Given the description of an element on the screen output the (x, y) to click on. 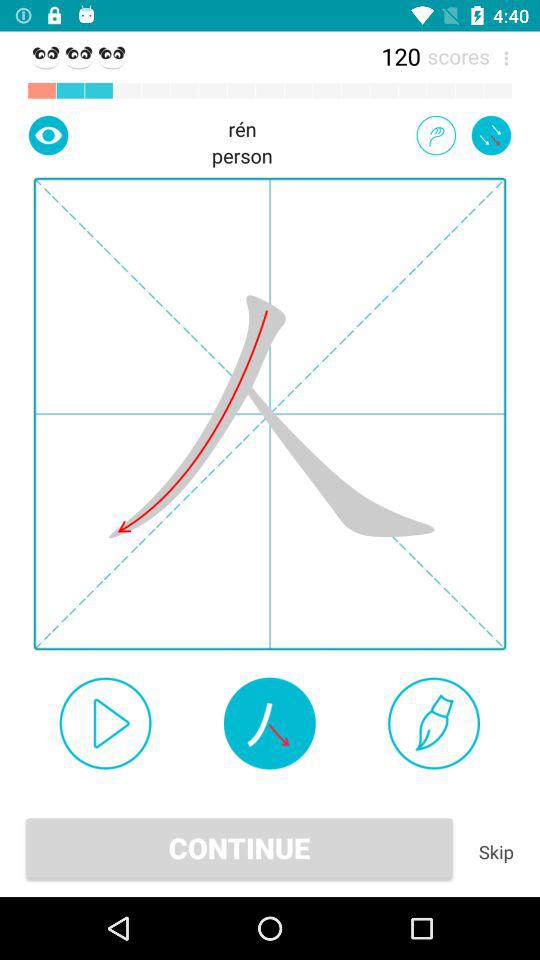
swipe to the skip icon (495, 851)
